Given the description of an element on the screen output the (x, y) to click on. 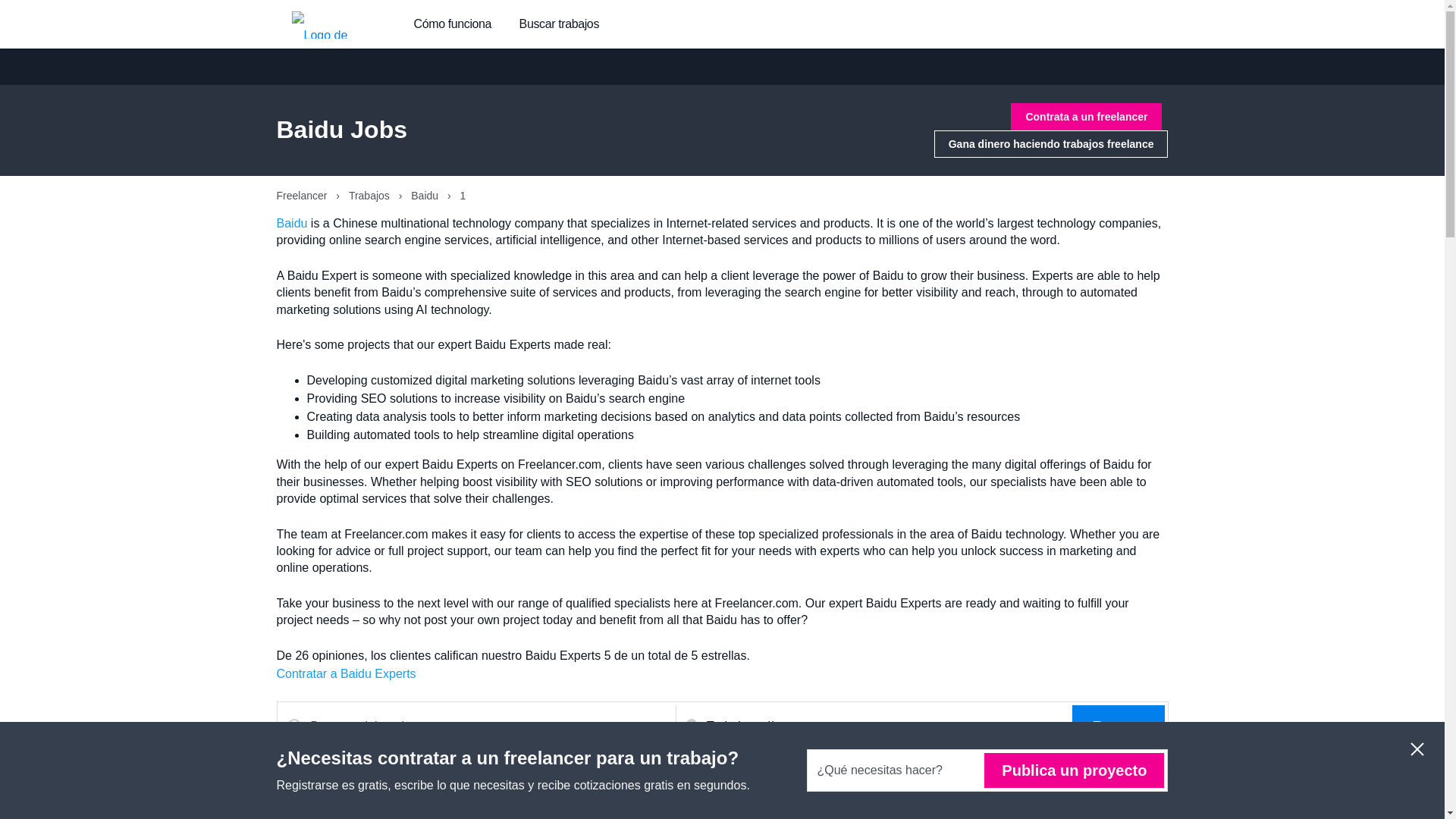
Contrata a un freelancer (1085, 116)
Contratar a Baidu Experts (345, 673)
0 (1085, 801)
Baidu (425, 195)
Buscar trabajos (558, 24)
First (1042, 801)
Buscar (1117, 726)
Freelancer (303, 195)
Gana dinero haciendo trabajos freelance (1051, 144)
Last (1128, 801)
